Given the description of an element on the screen output the (x, y) to click on. 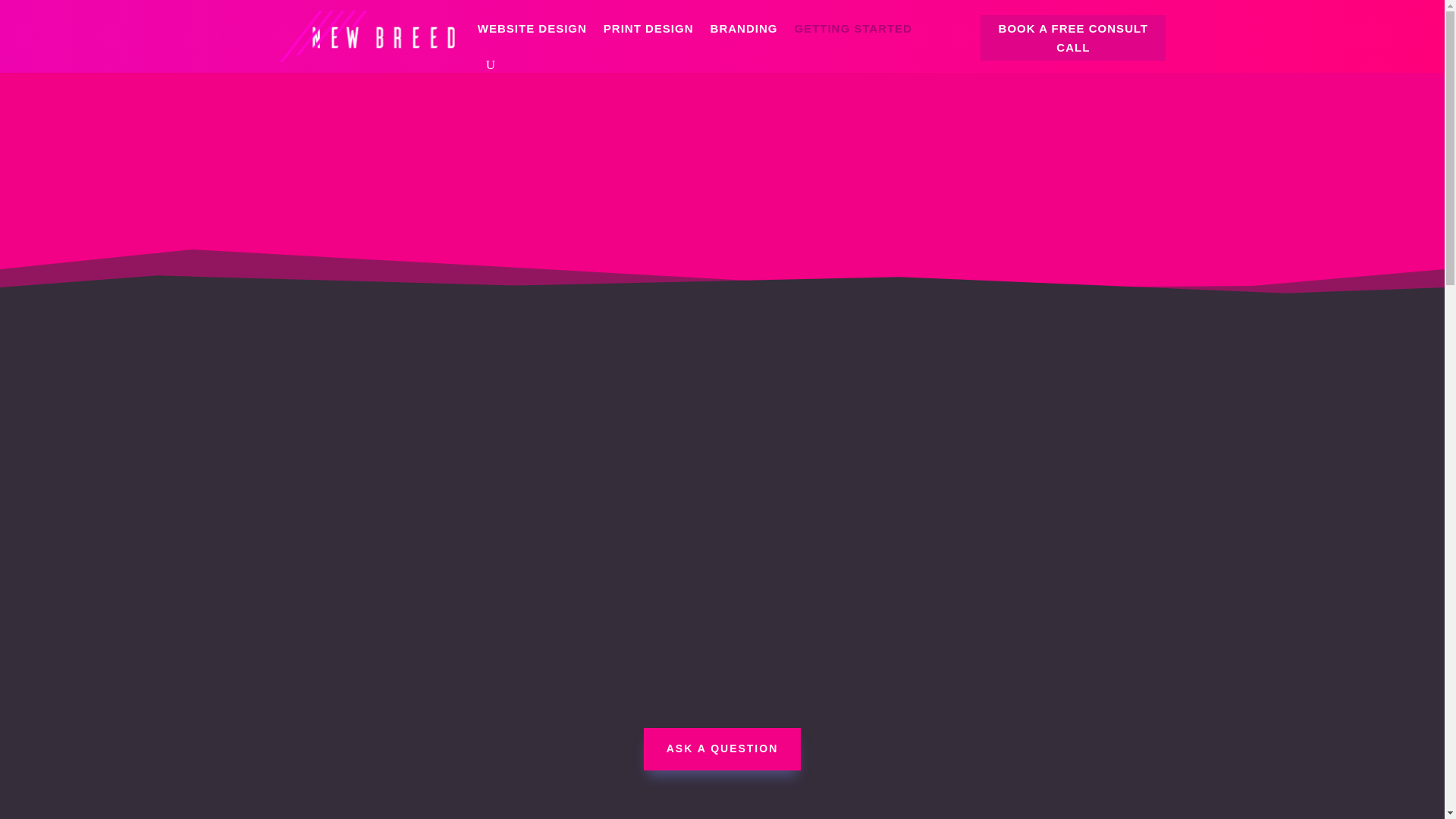
WEBSITE DESIGN (531, 28)
PRINT DESIGN (649, 28)
BOOK A FREE CONSULT CALL (1072, 37)
GETTING STARTED (852, 28)
BRANDING (743, 28)
ASK A QUESTION (722, 749)
